Given the description of an element on the screen output the (x, y) to click on. 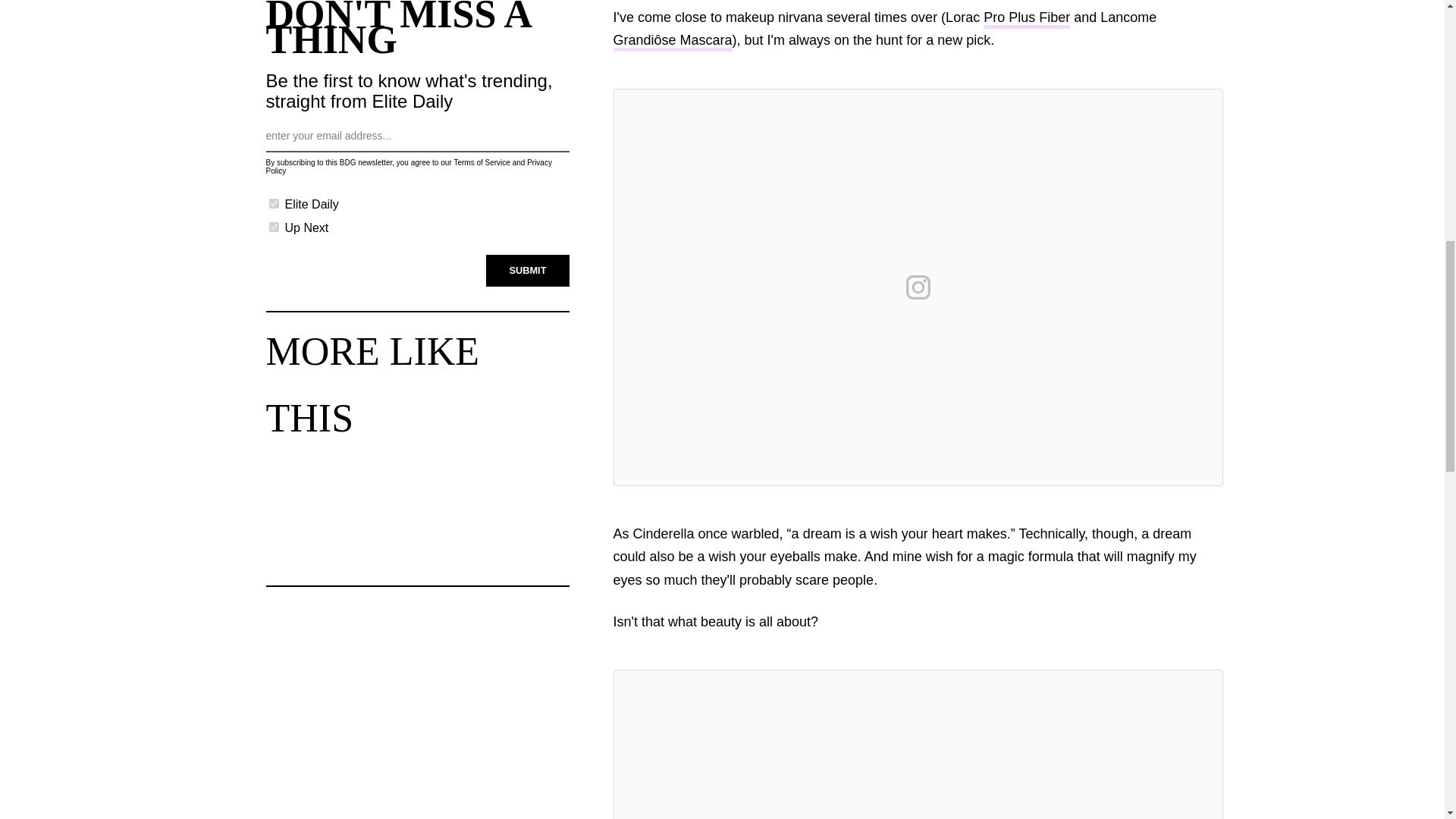
View on Instagram (917, 287)
Pro Plus Fiber (1027, 18)
Privacy Policy (407, 166)
Terms of Service (480, 162)
SUBMIT (527, 269)
